Given the description of an element on the screen output the (x, y) to click on. 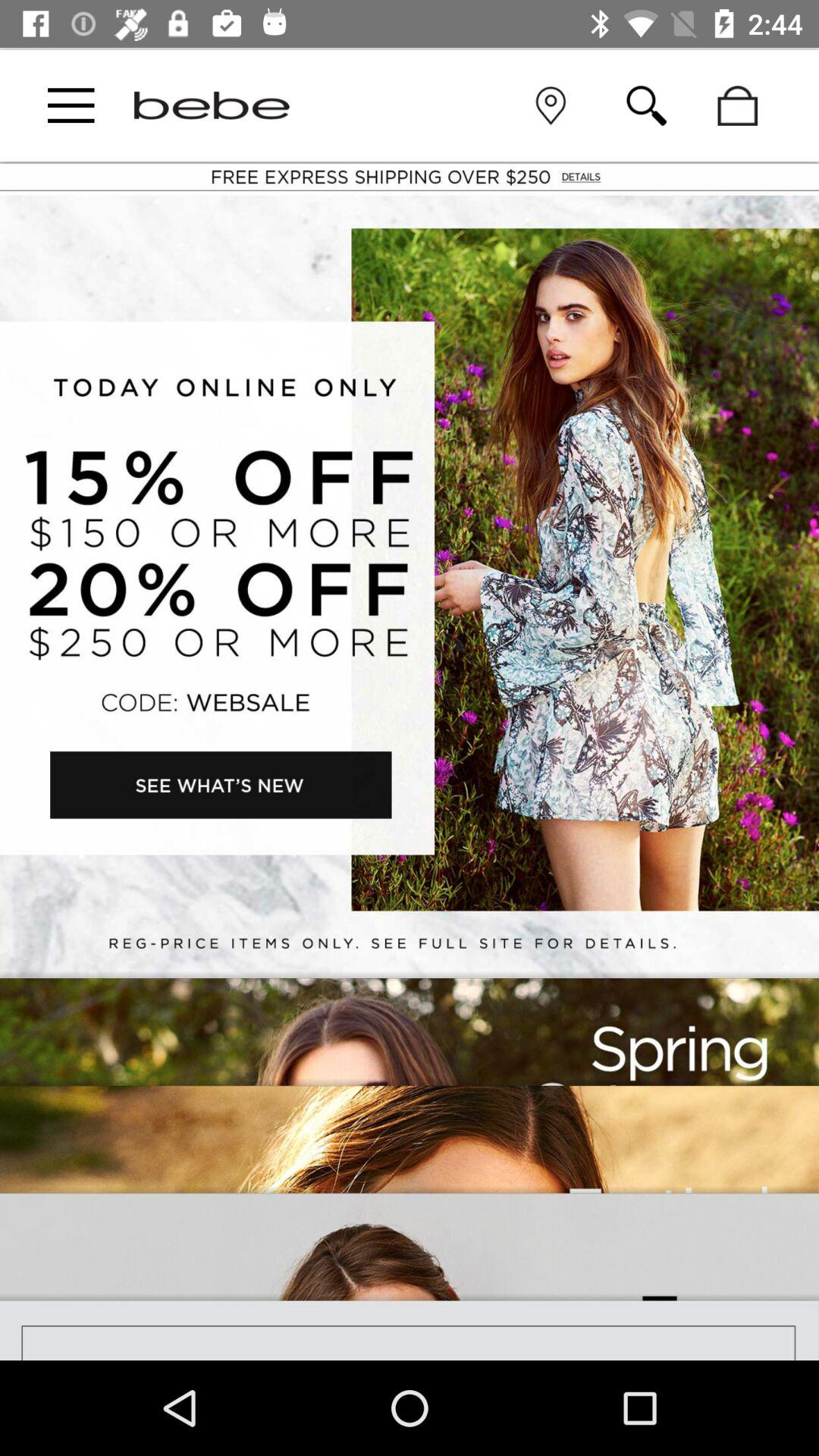
go to homepage (211, 105)
